Given the description of an element on the screen output the (x, y) to click on. 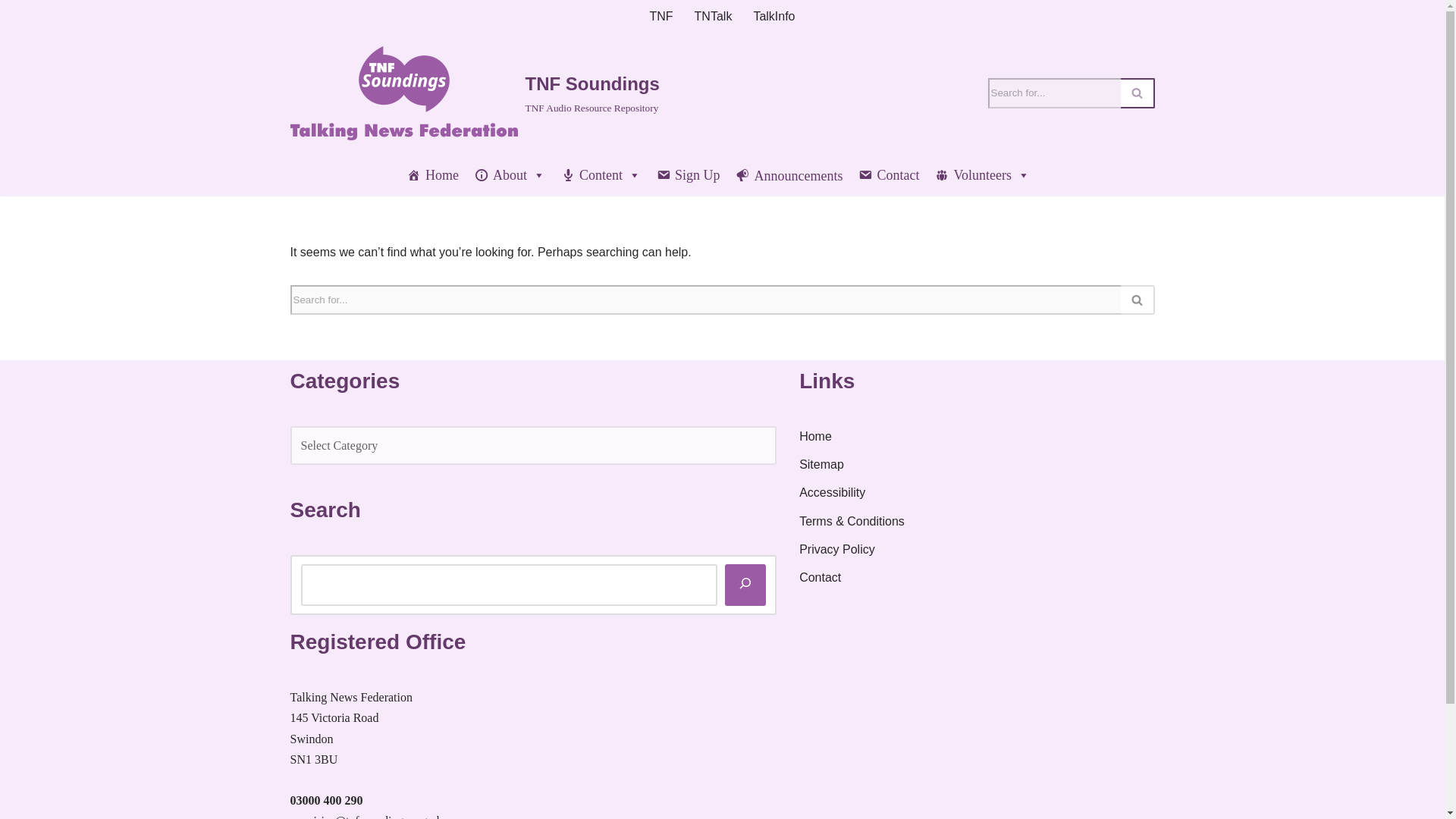
Sign Up (687, 174)
Announcements (788, 174)
Home (433, 174)
TNF Soundings (433, 174)
Subscribe to TNF Soundings Content (687, 174)
About (509, 174)
TNF Soundings News and Updates (788, 174)
TNF (660, 15)
About TNF Soundings (509, 174)
Volunteers (982, 174)
